Given the description of an element on the screen output the (x, y) to click on. 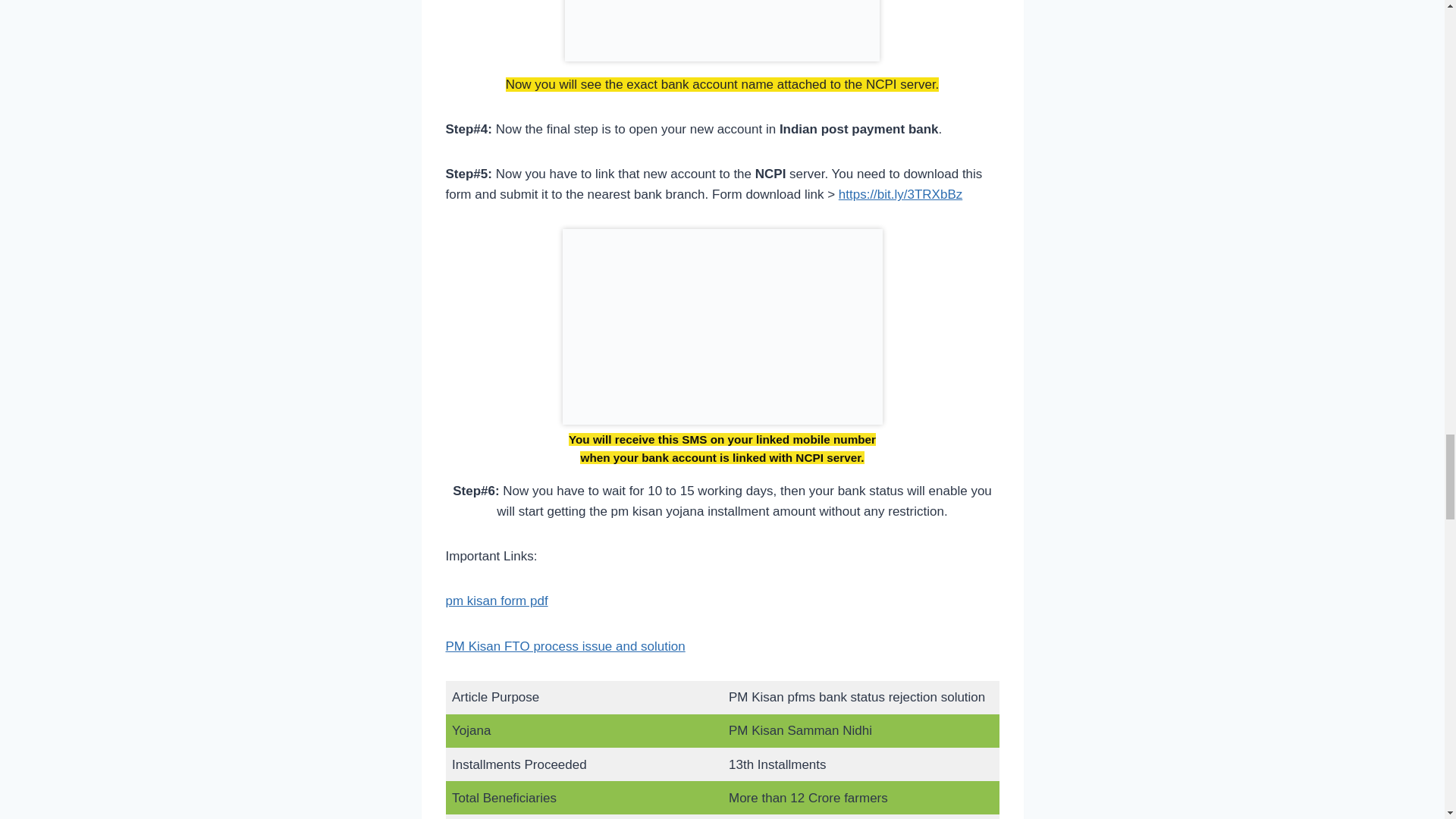
pm kisan form pdf (496, 600)
PM Kisan FTO process issue and solution (565, 645)
